Given the description of an element on the screen output the (x, y) to click on. 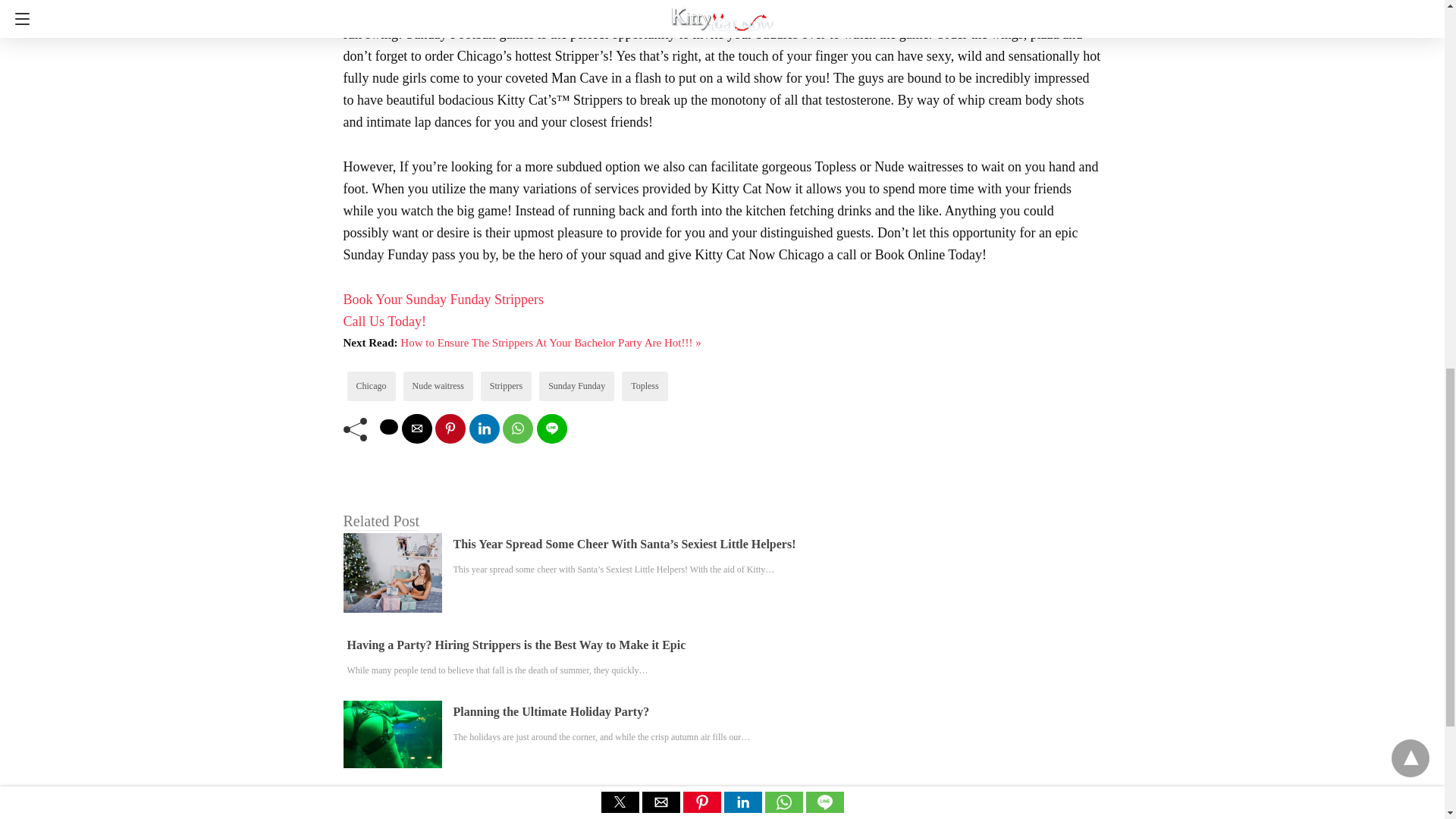
pinterest share (450, 428)
Book Your Sunday Funday Strippers (442, 299)
Planning the Ultimate Holiday Party? (550, 711)
Nude waitress (438, 385)
Strippers (505, 385)
Sunday Funday (576, 385)
Topless (644, 385)
Call Us Today! (383, 321)
mailto (416, 428)
whatsapp share (517, 428)
linkedin share (483, 428)
twitter share (388, 426)
Planning the Ultimate Holiday Party? (550, 711)
